Given the description of an element on the screen output the (x, y) to click on. 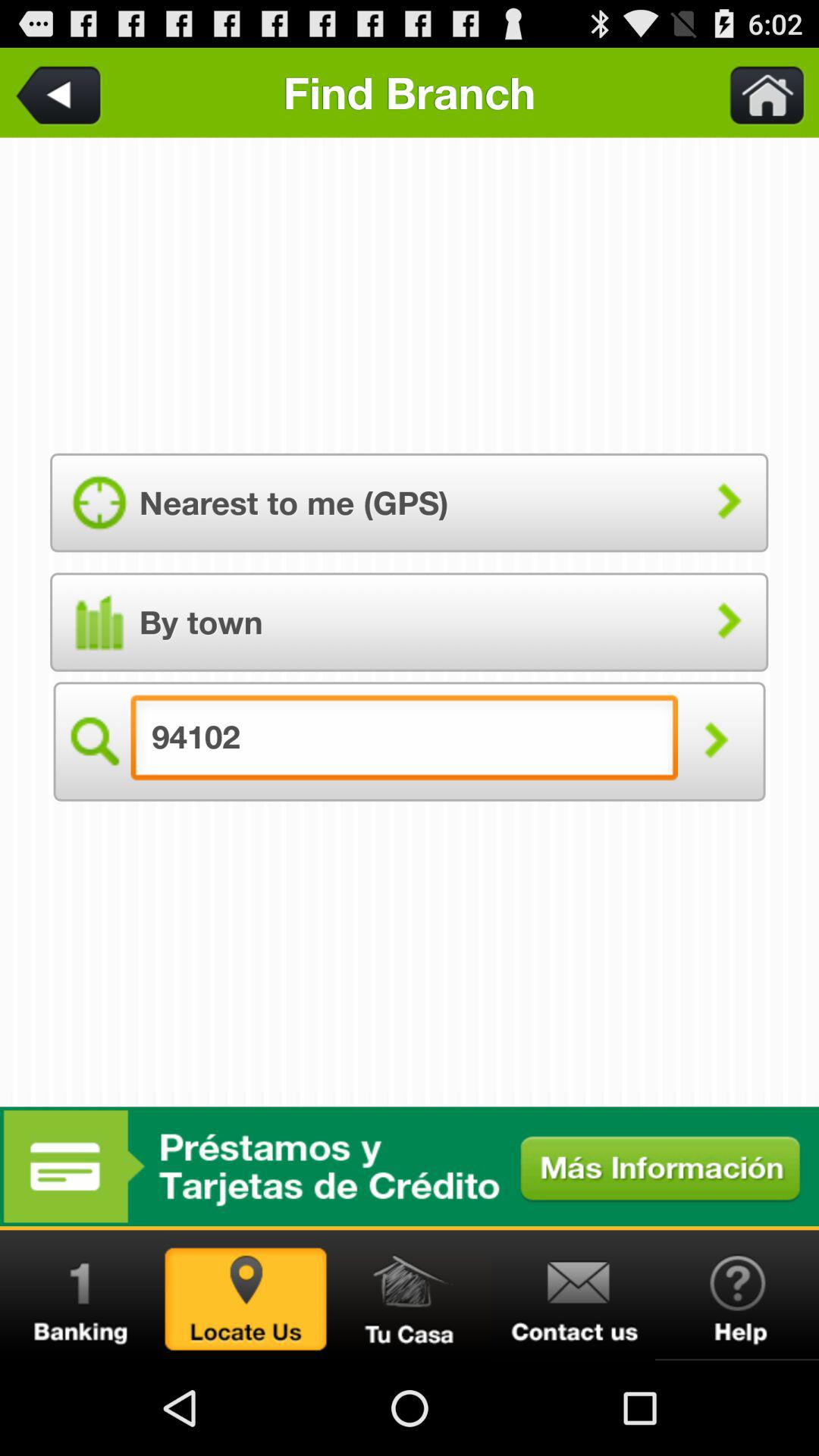
area code (61, 92)
